Given the description of an element on the screen output the (x, y) to click on. 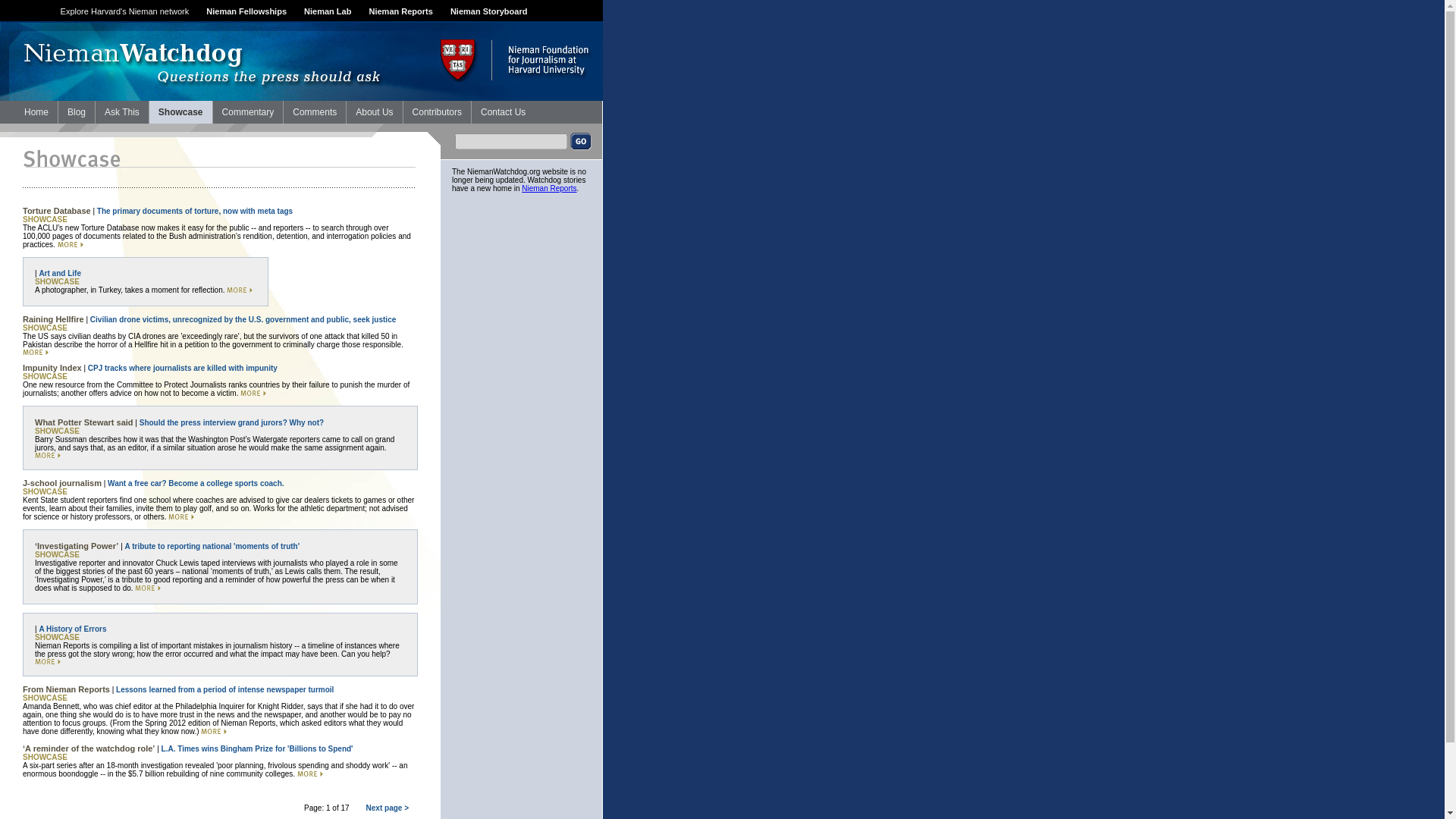
Should the press interview grand jurors? Why not? (231, 422)
Contact Us (502, 112)
Explore Harvard's Nieman network (125, 10)
Nieman Lab (327, 10)
Nieman Reports (400, 10)
Blog (76, 112)
Art and Life (60, 273)
Nieman Reports (548, 188)
A History of Errors (72, 628)
Contributors (436, 112)
Nieman Fellowships (246, 10)
Nieman Storyboard (488, 10)
CPJ tracks where journalists are killed with impunity (182, 367)
Comments (314, 112)
